Given the description of an element on the screen output the (x, y) to click on. 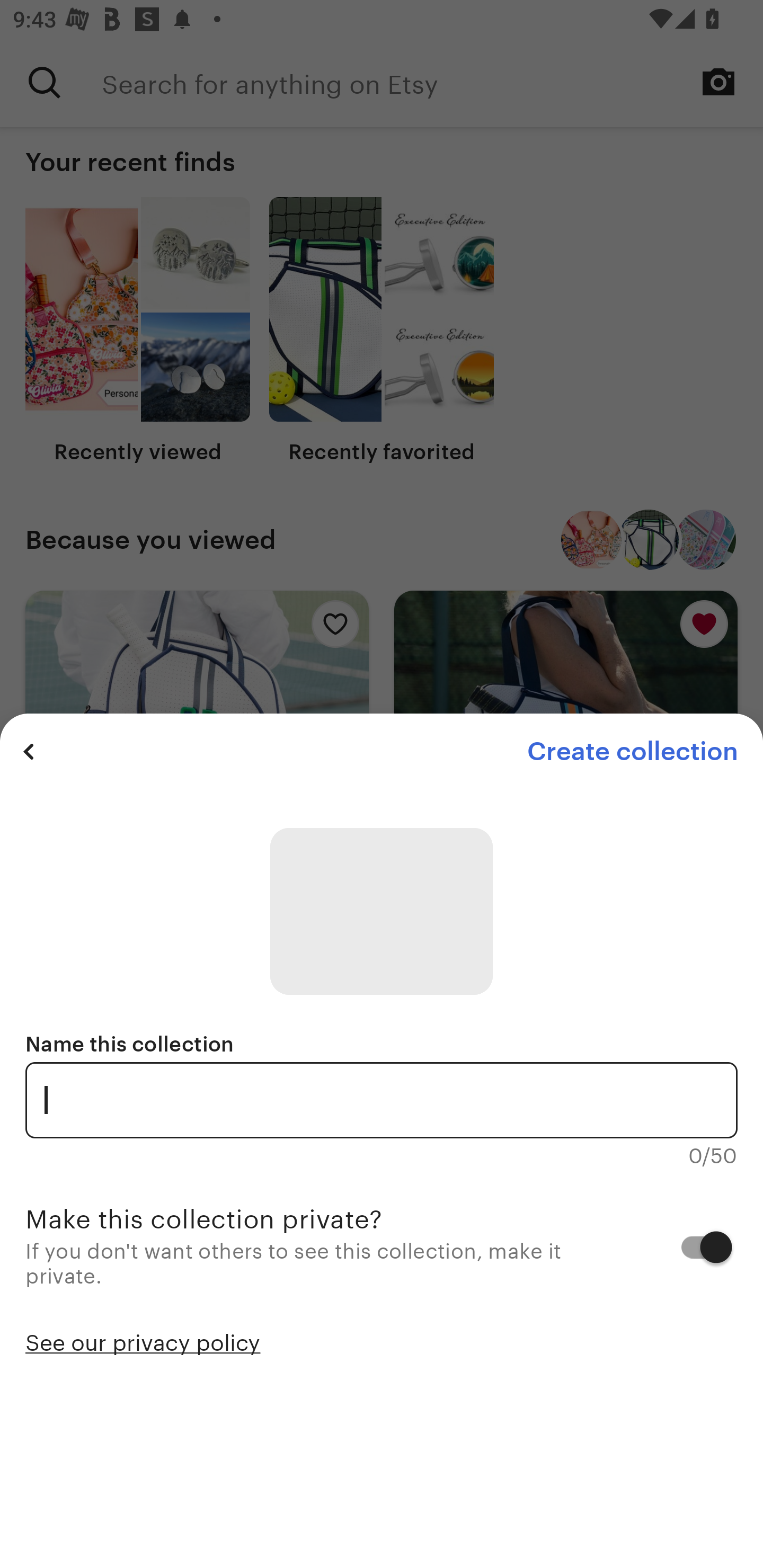
Previous (28, 751)
Create collection (632, 751)
See our privacy policy (142, 1341)
